Given the description of an element on the screen output the (x, y) to click on. 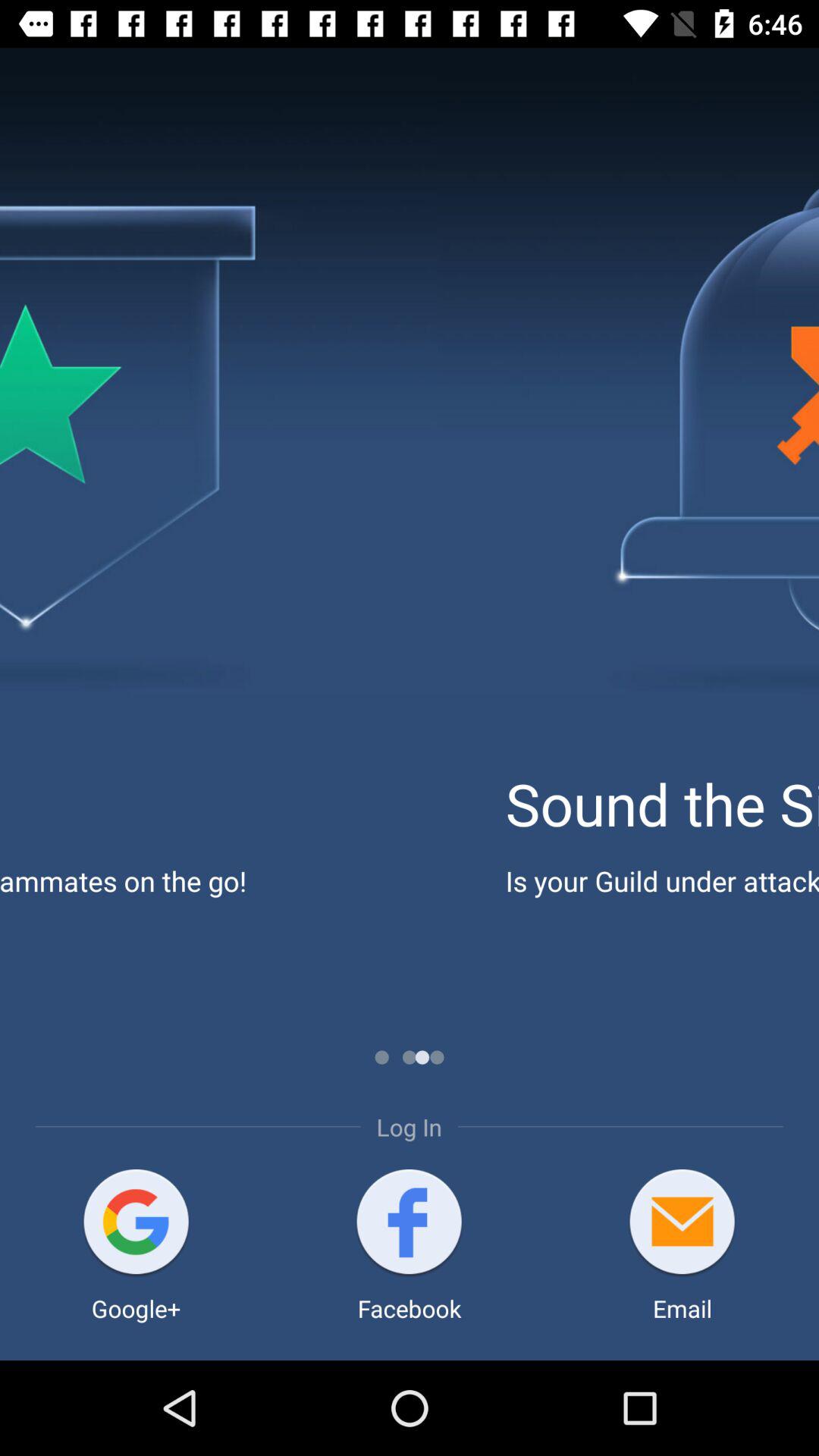
open app below the log in item (408, 1223)
